Given the description of an element on the screen output the (x, y) to click on. 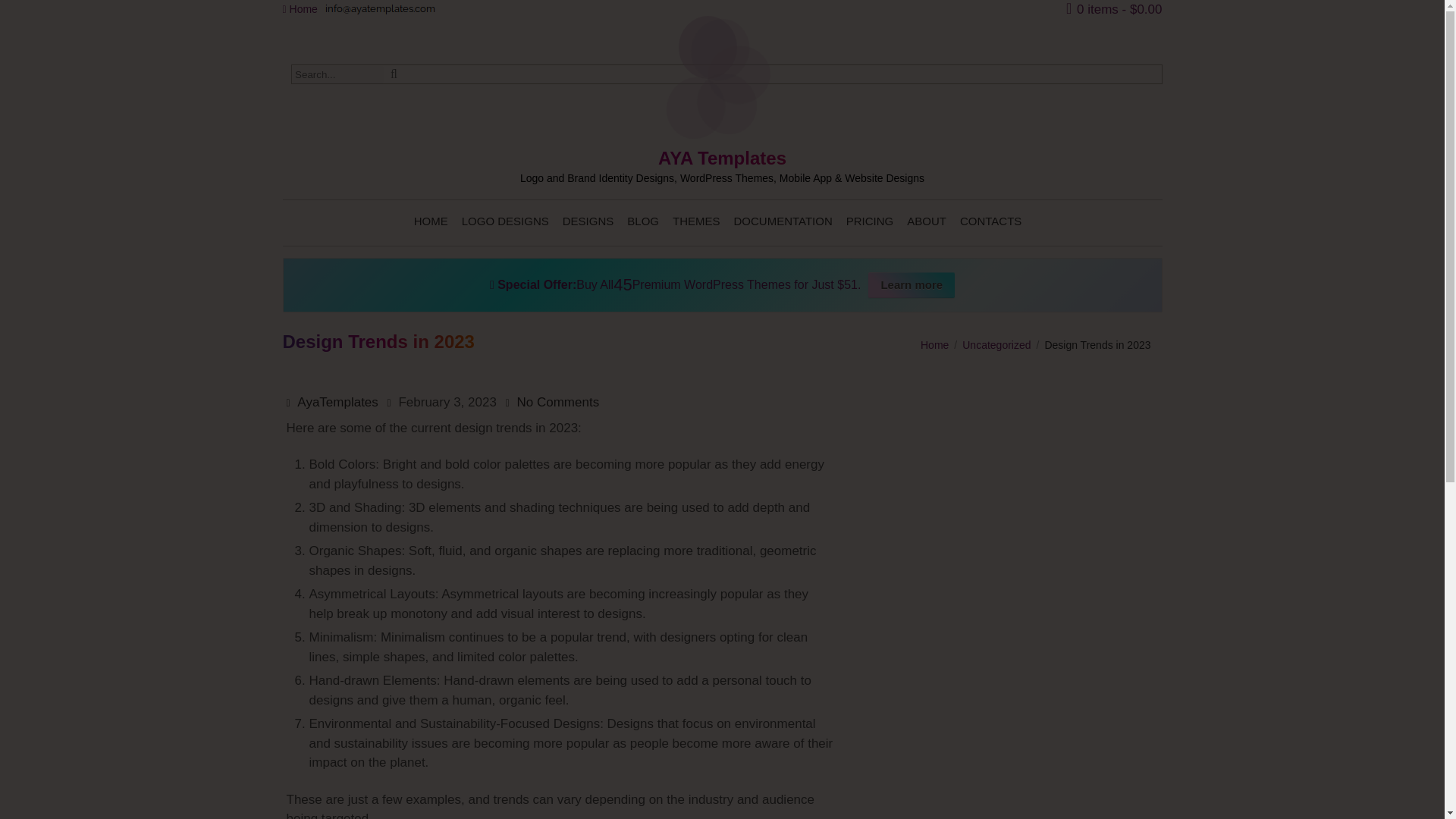
Home (299, 9)
LOGO DESIGNS (505, 221)
Posts by AyaTemplates (337, 401)
AYA Templates (721, 166)
DESIGNS (588, 221)
Home (934, 345)
Home (299, 9)
AYA Templates (721, 166)
View your shopping cart (1113, 8)
HOME (430, 221)
